Given the description of an element on the screen output the (x, y) to click on. 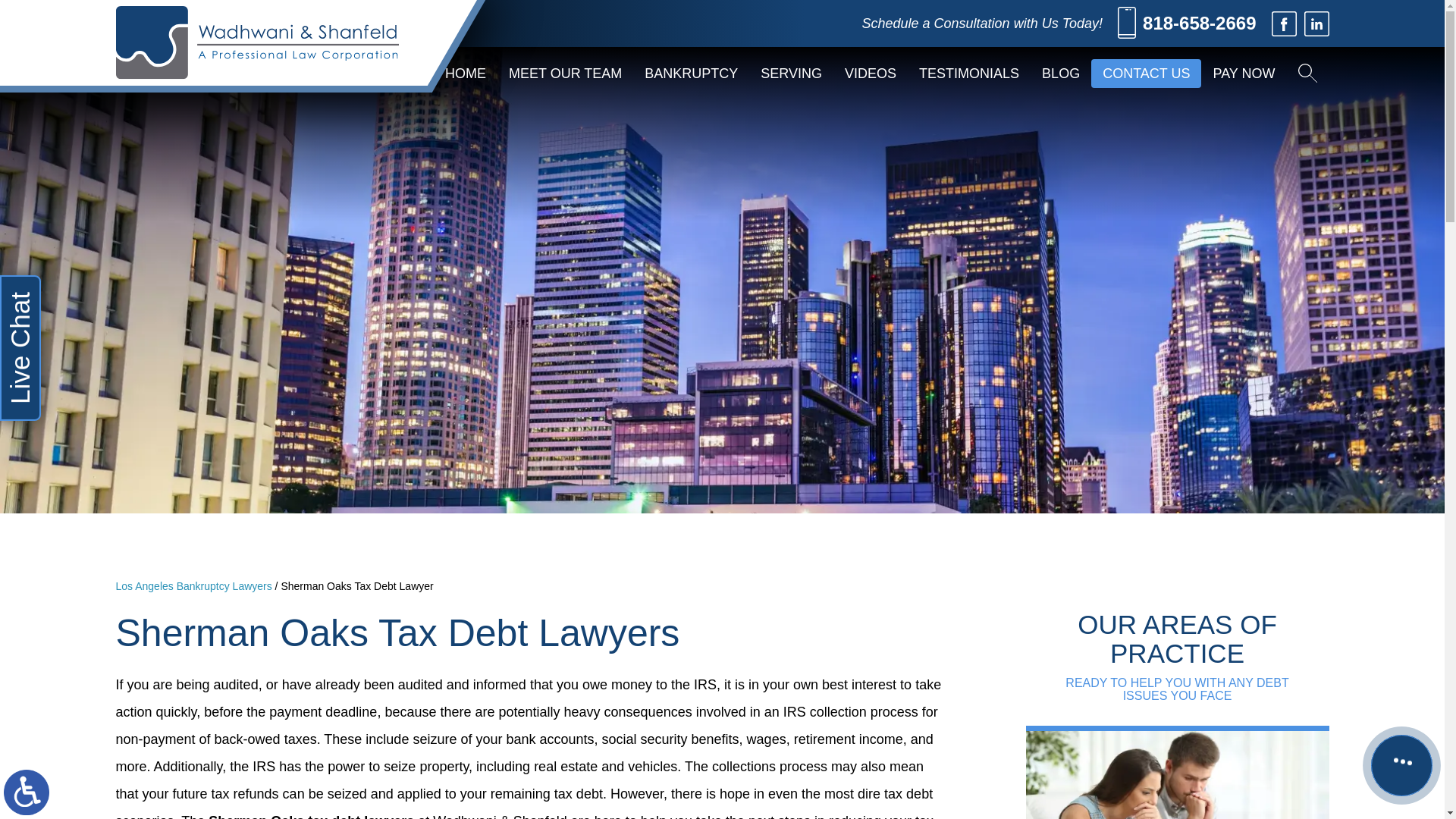
Switch to ADA Accessible Theme (26, 791)
MEET OUR TEAM (565, 72)
BANKRUPTCY (691, 72)
HOME (465, 72)
818-658-2669 (1186, 23)
